Given the description of an element on the screen output the (x, y) to click on. 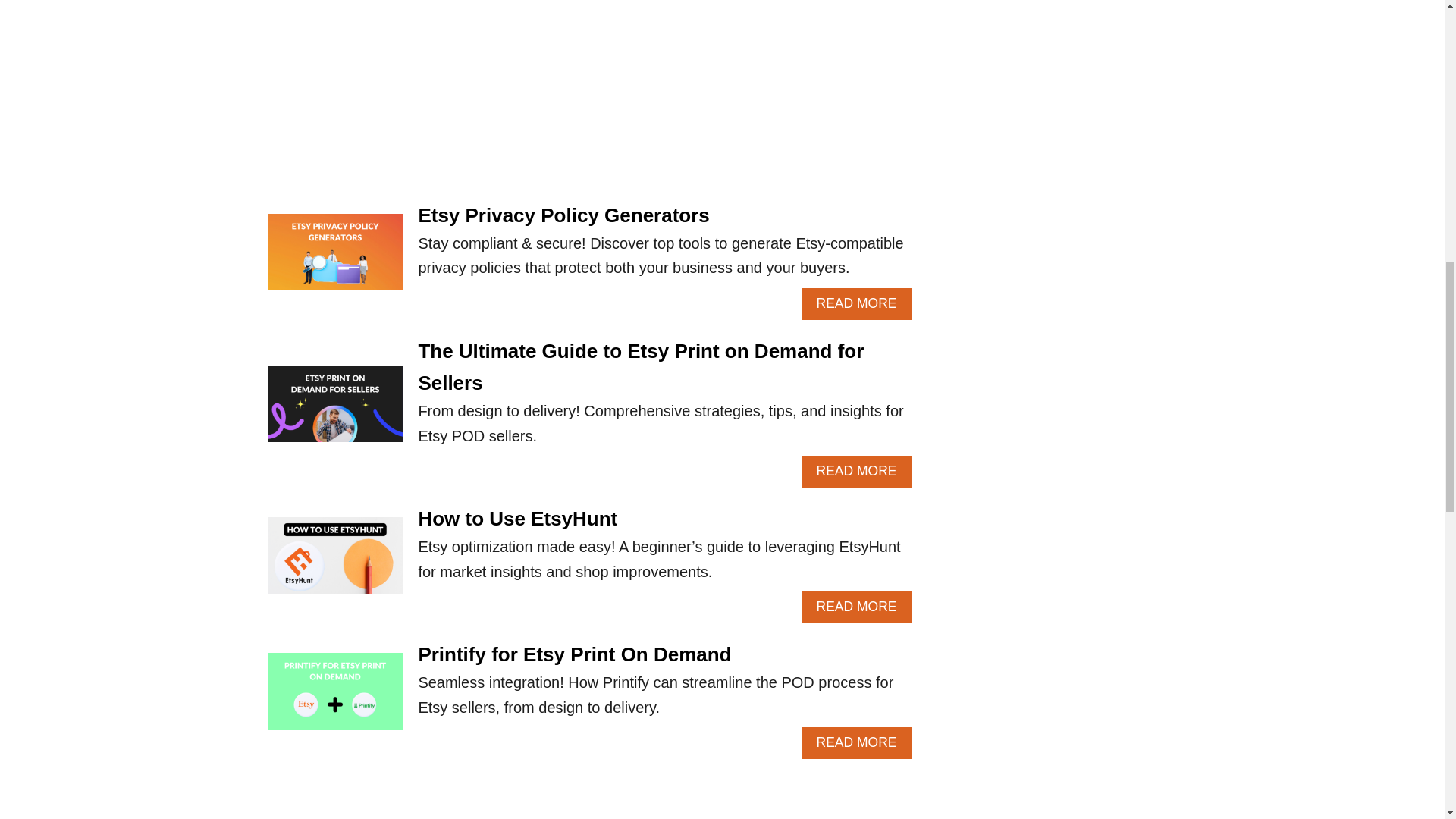
How to Use EtsyHunt (517, 517)
Etsy Privacy Policy Generators (563, 214)
How to Use EtsyHunt (334, 562)
Printify for Etsy Print On Demand (857, 743)
The Ultimate Guide to Etsy Print on Demand for Sellers (573, 653)
The Ultimate Guide to Etsy Print on Demand for Sellers (640, 366)
Printify for Etsy Print On Demand (334, 411)
Etsy Privacy Policy Generators (334, 698)
